Given the description of an element on the screen output the (x, y) to click on. 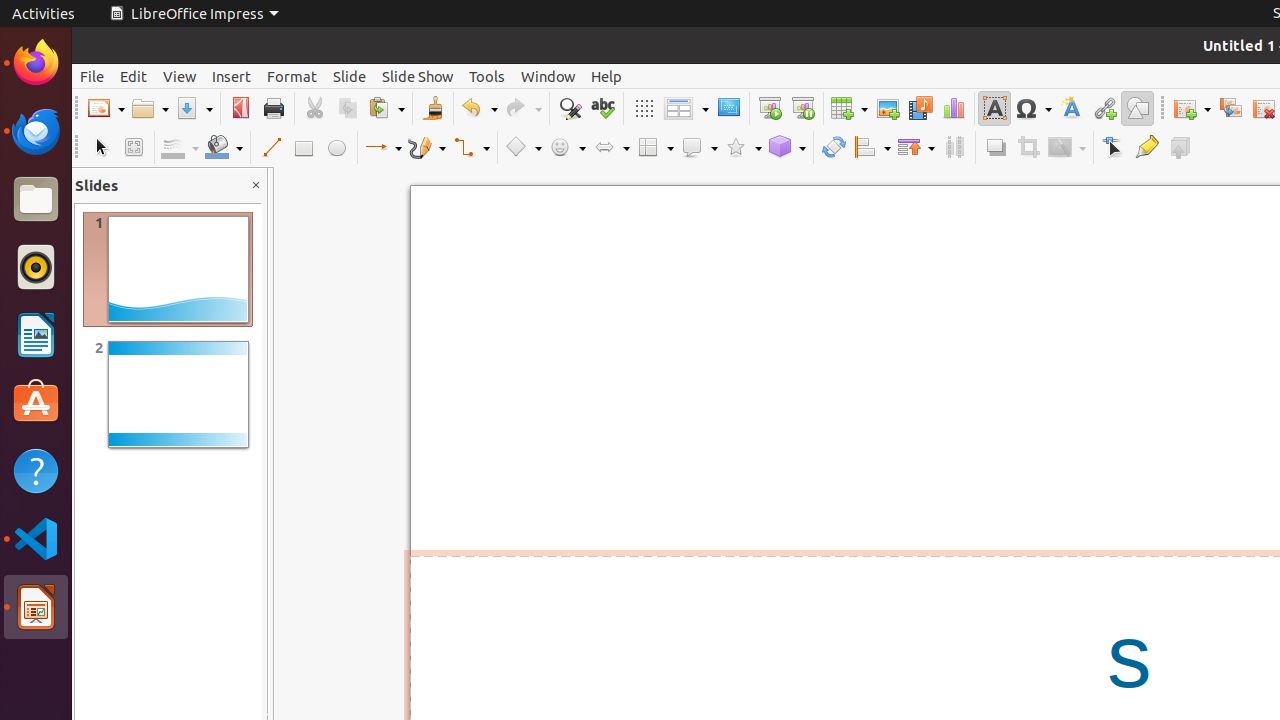
Start from Current Slide Element type: push-button (802, 108)
Ellipse Element type: push-button (336, 147)
Thunderbird Mail Element type: push-button (36, 131)
Cut Element type: push-button (314, 108)
LibreOffice Impress Element type: push-button (36, 607)
